Given the description of an element on the screen output the (x, y) to click on. 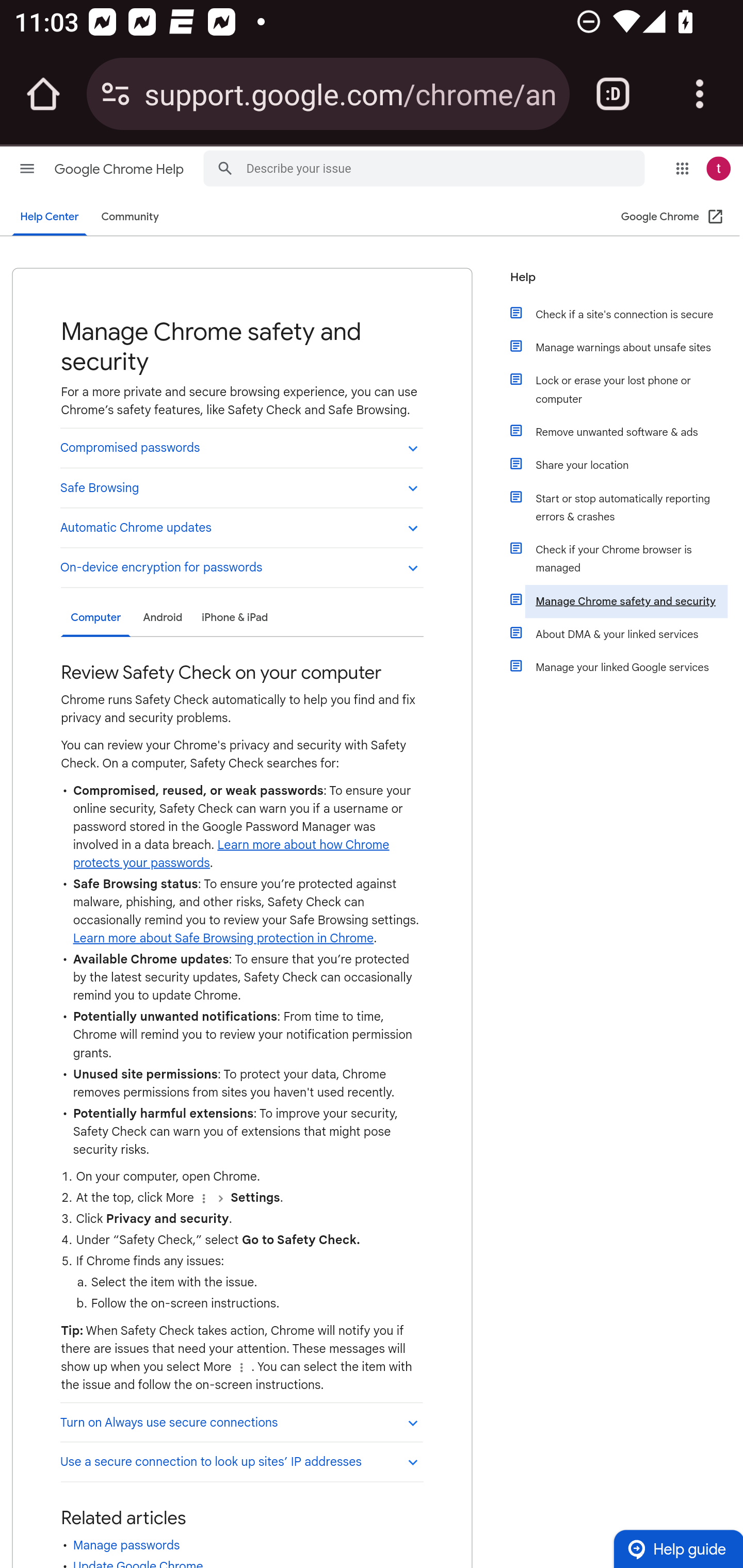
Open the home page (43, 93)
Connection is secure (115, 93)
Switch or close tabs (612, 93)
Customize and control Google Chrome (699, 93)
Main menu (27, 168)
Google Chrome Help (120, 169)
Search Help Center (224, 167)
Google apps (681, 168)
Help Center (48, 217)
Community (129, 217)
Google Chrome (Open in a new window) Google Chrome (672, 217)
Help Help Help (618, 282)
Check if a site's connection is secure (626, 314)
Manage warnings about unsafe sites (626, 347)
Lock or erase your lost phone or computer (626, 390)
Remove unwanted software & ads (626, 432)
Compromised passwords (240, 446)
Share your location (626, 465)
Safe Browsing (240, 487)
Automatic Chrome updates (240, 526)
Check if your Chrome browser is managed (626, 558)
On-device encryption for passwords (240, 567)
Manage Chrome safety and security (626, 600)
Computer (95, 617)
Android (161, 616)
iPhone & iPad (234, 616)
About DMA & your linked services (626, 633)
Manage your linked Google services (626, 667)
Turn on Always use secure connections (240, 1421)
Related articles Related articles Related articles (241, 1517)
Related articles (123, 1518)
Help guide (677, 1548)
Manage passwords (125, 1545)
